Given the description of an element on the screen output the (x, y) to click on. 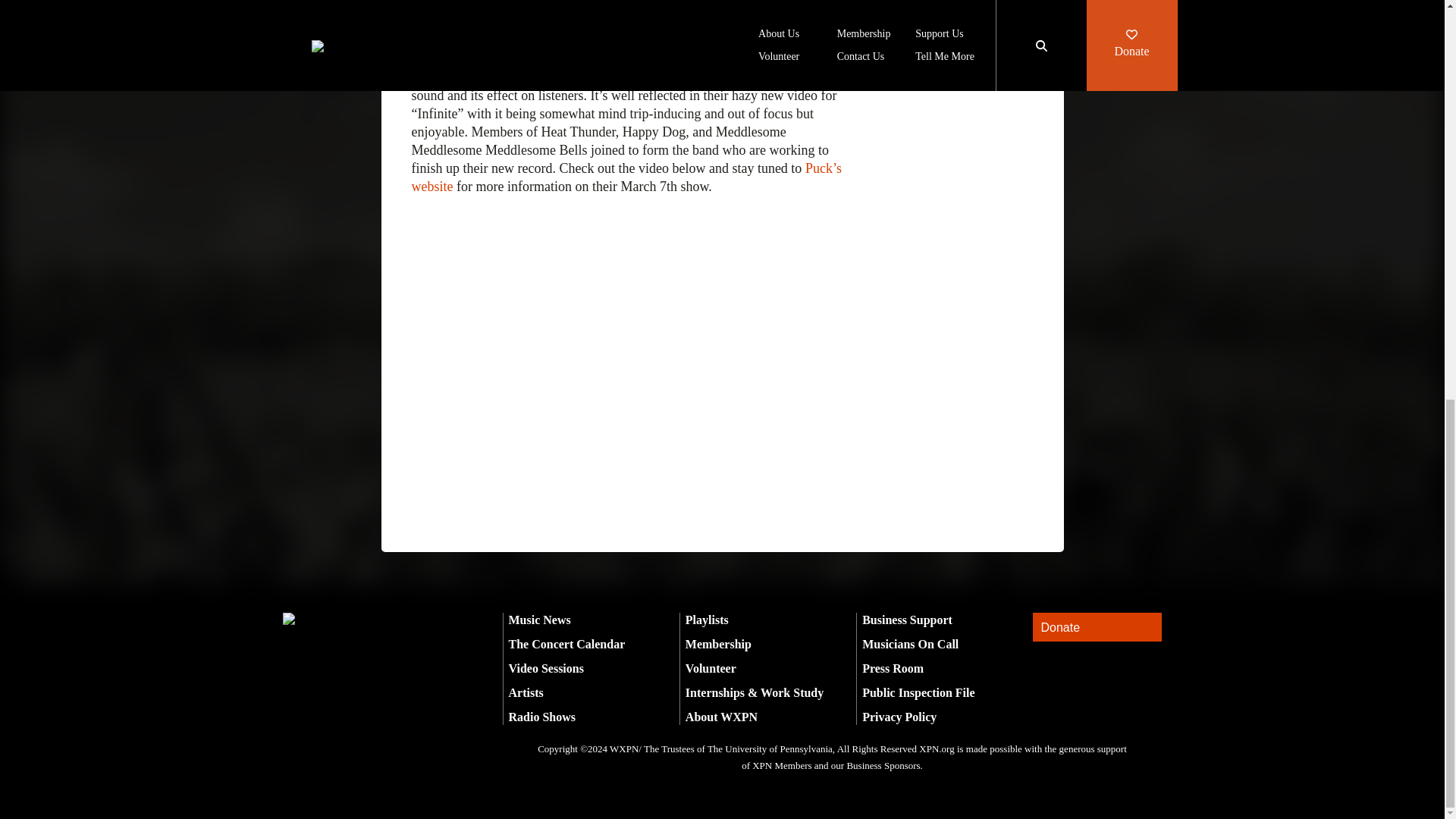
About WXPN (721, 716)
Privacy Policy (898, 716)
Playlists (707, 619)
The Concert Calendar (566, 644)
Press Room (892, 667)
Donate (1096, 626)
Business Support (906, 619)
Video Sessions (545, 667)
Membership (718, 644)
Music News (539, 619)
